Given the description of an element on the screen output the (x, y) to click on. 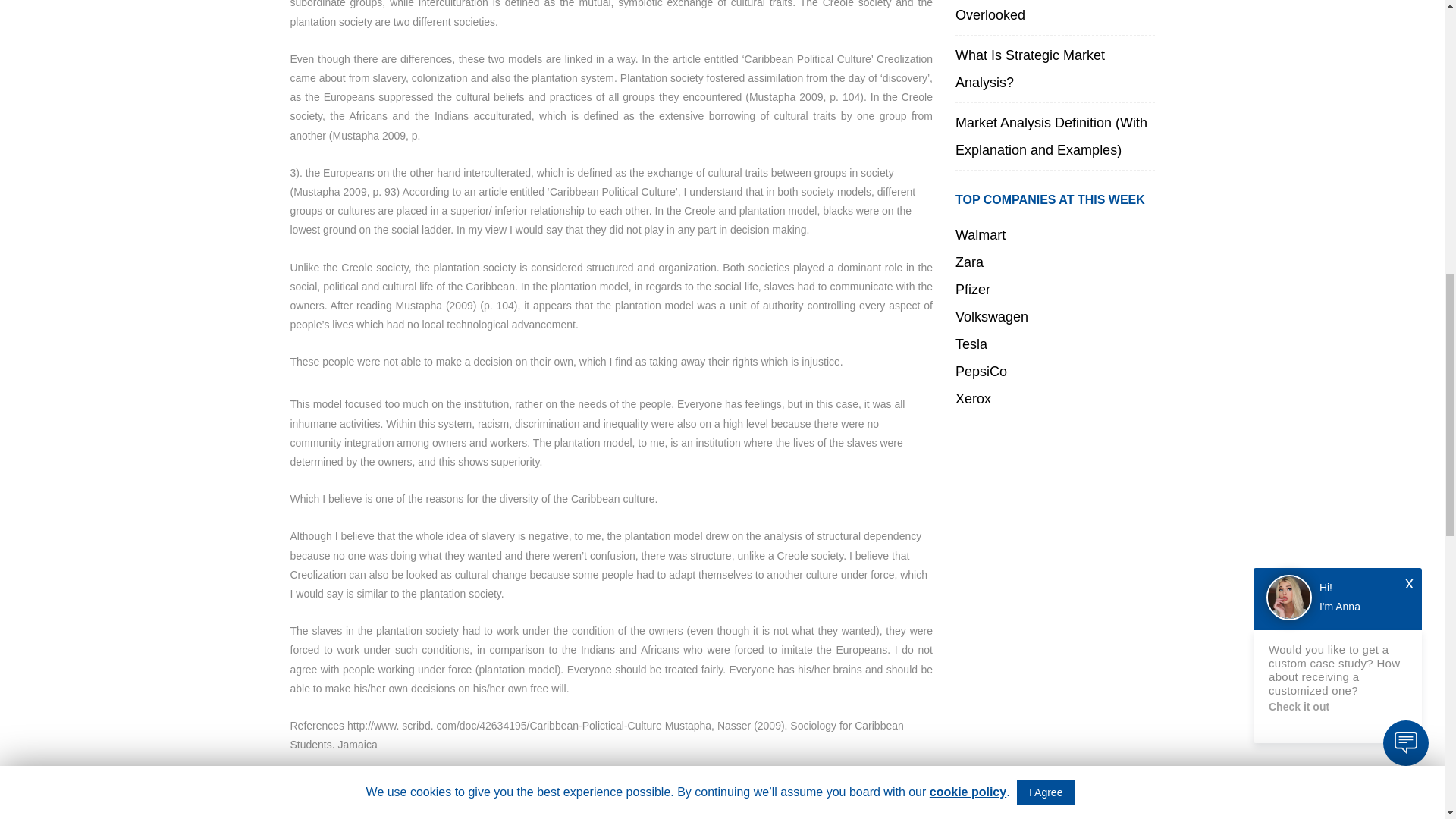
Sony Plantation Case Study (374, 800)
Impact of European Imperialism on Ibo Society (422, 816)
